Given the description of an element on the screen output the (x, y) to click on. 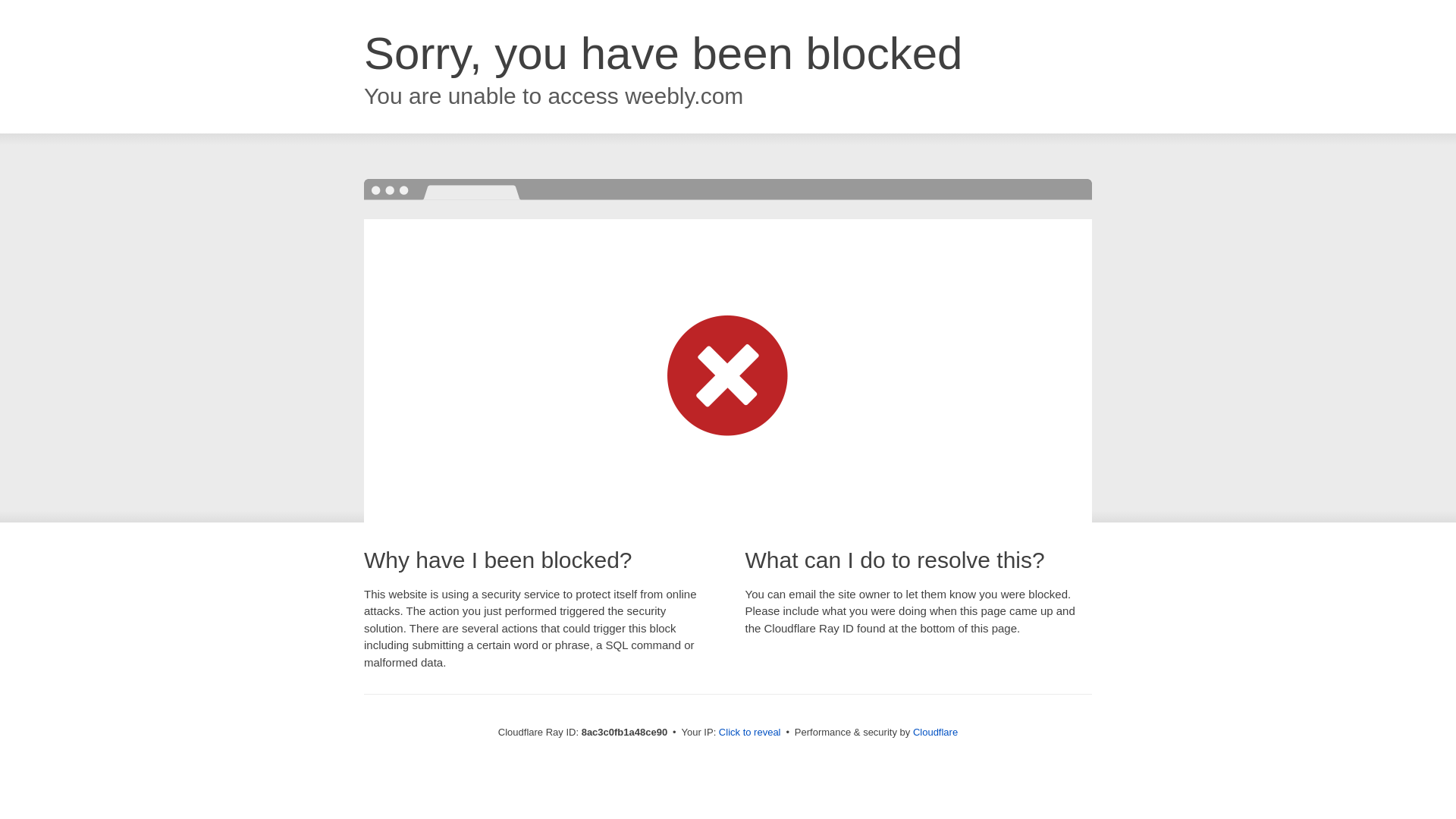
Click to reveal (749, 732)
Cloudflare (935, 731)
